Given the description of an element on the screen output the (x, y) to click on. 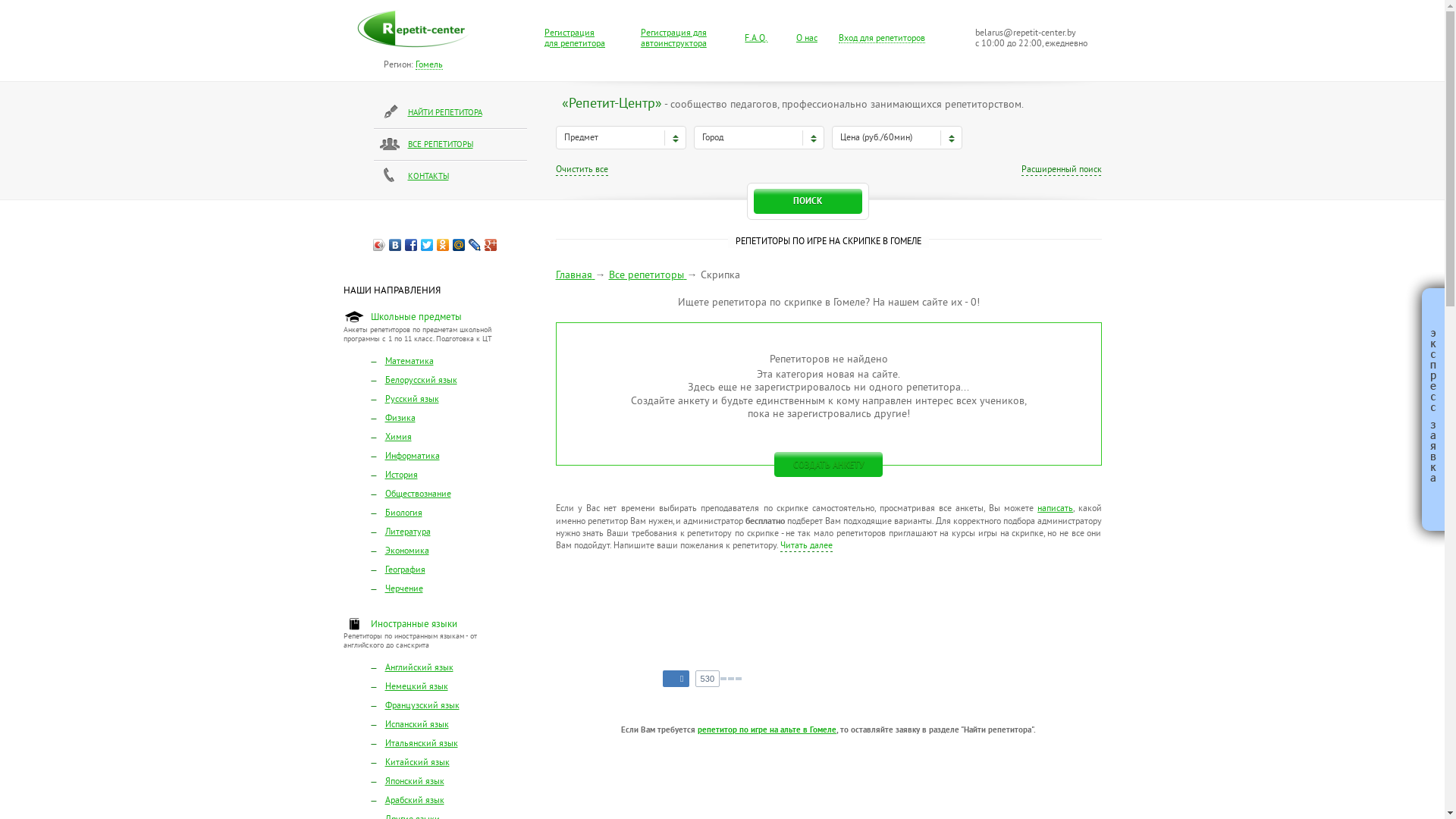
Facebook Element type: hover (411, 244)
Google Plus Element type: hover (490, 244)
F.A.Q. Element type: text (755, 38)
LiveJournal Element type: hover (475, 244)
Twitter Element type: hover (427, 244)
